Given the description of an element on the screen output the (x, y) to click on. 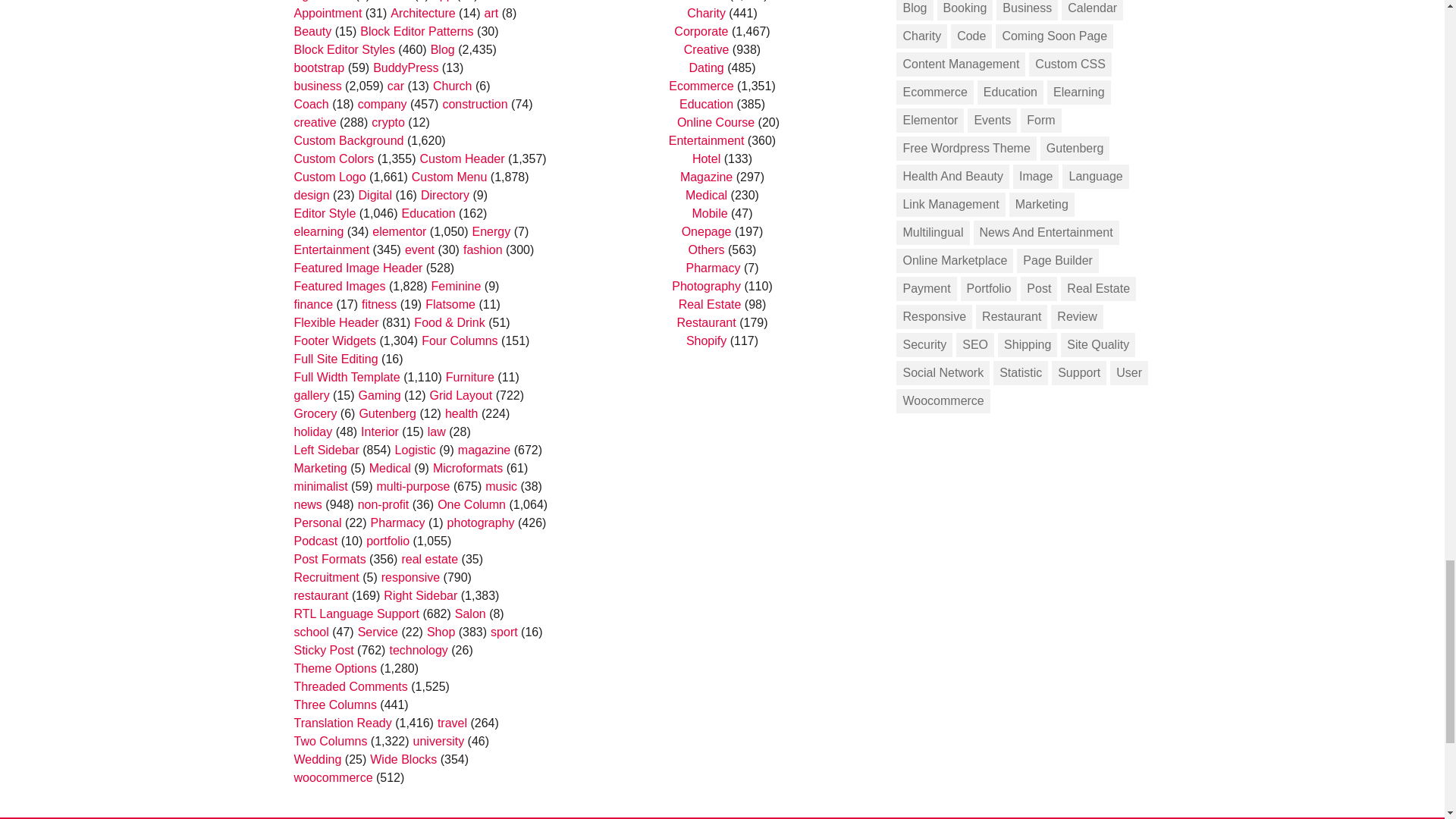
Agriculture (323, 0)
Animal (392, 0)
app (442, 0)
